Given the description of an element on the screen output the (x, y) to click on. 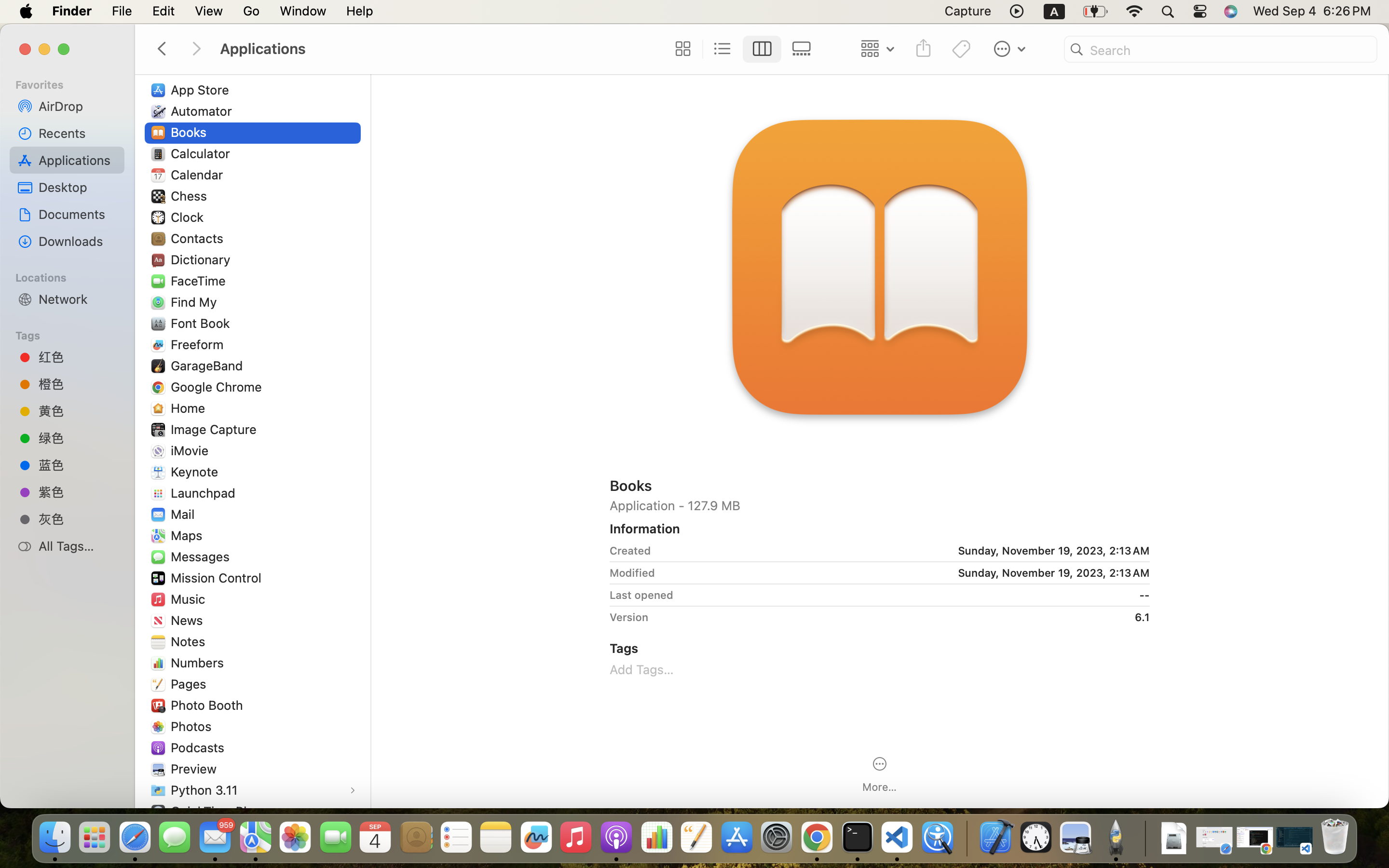
Photo Booth Element type: AXTextField (208, 704)
黄色 Element type: AXStaticText (77, 410)
Mail Element type: AXTextField (184, 513)
蓝色 Element type: AXStaticText (77, 464)
Python 3.11 Element type: AXTextField (206, 789)
